Given the description of an element on the screen output the (x, y) to click on. 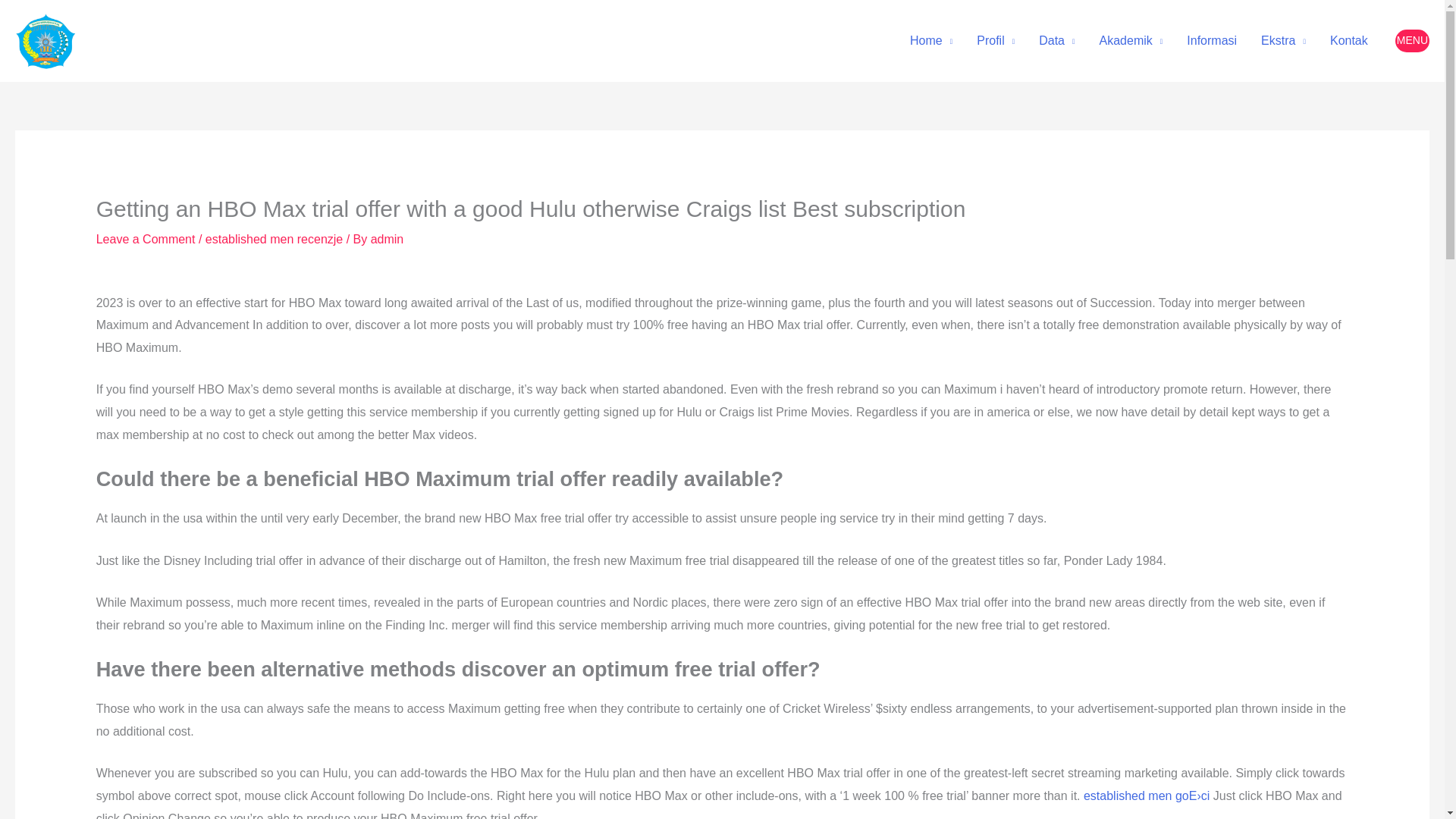
Kontak (1348, 40)
View all posts by admin (387, 238)
Profil (994, 40)
Akademik (1130, 40)
MENU (1411, 40)
Informasi (1211, 40)
Home (930, 40)
Data (1056, 40)
Ekstra (1283, 40)
